Given the description of an element on the screen output the (x, y) to click on. 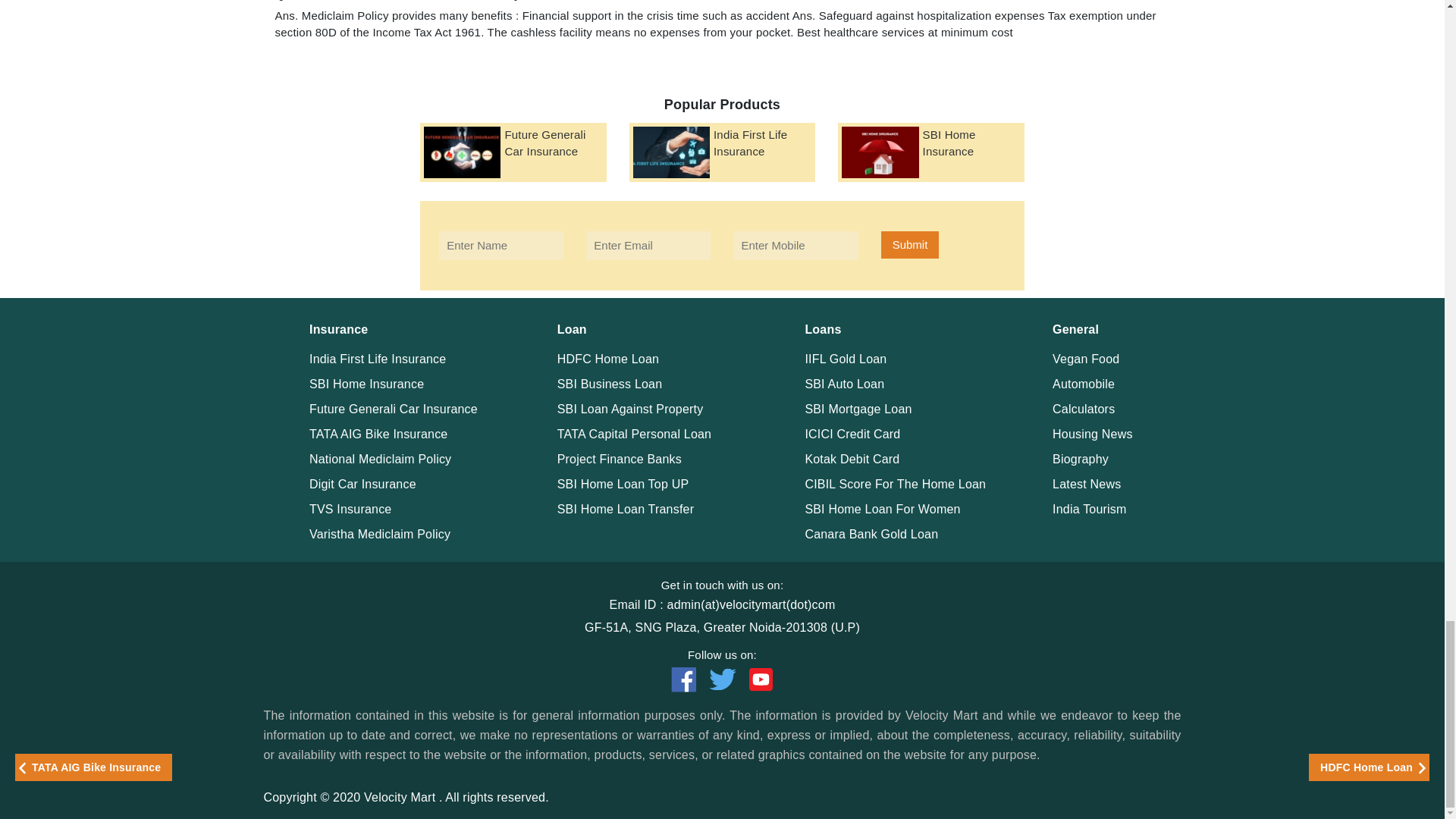
Vegan Food (1085, 358)
ICICI Credit Card (852, 432)
Latest News (1086, 482)
TATA Capital Personal Loan (634, 432)
TATA AIG Bike Insurance (377, 432)
India First Life Insurance (376, 358)
Digit Car Insurance (362, 482)
CIBIL Score For The Home Loan (895, 482)
SBI Home Loan Transfer (625, 508)
SBI Auto Loan (844, 382)
SBI Home Insurance (365, 382)
Submit (909, 244)
Housing News (1092, 432)
Varistha Mediclaim Policy (378, 533)
SBI Loan Against Property (630, 408)
